Given the description of an element on the screen output the (x, y) to click on. 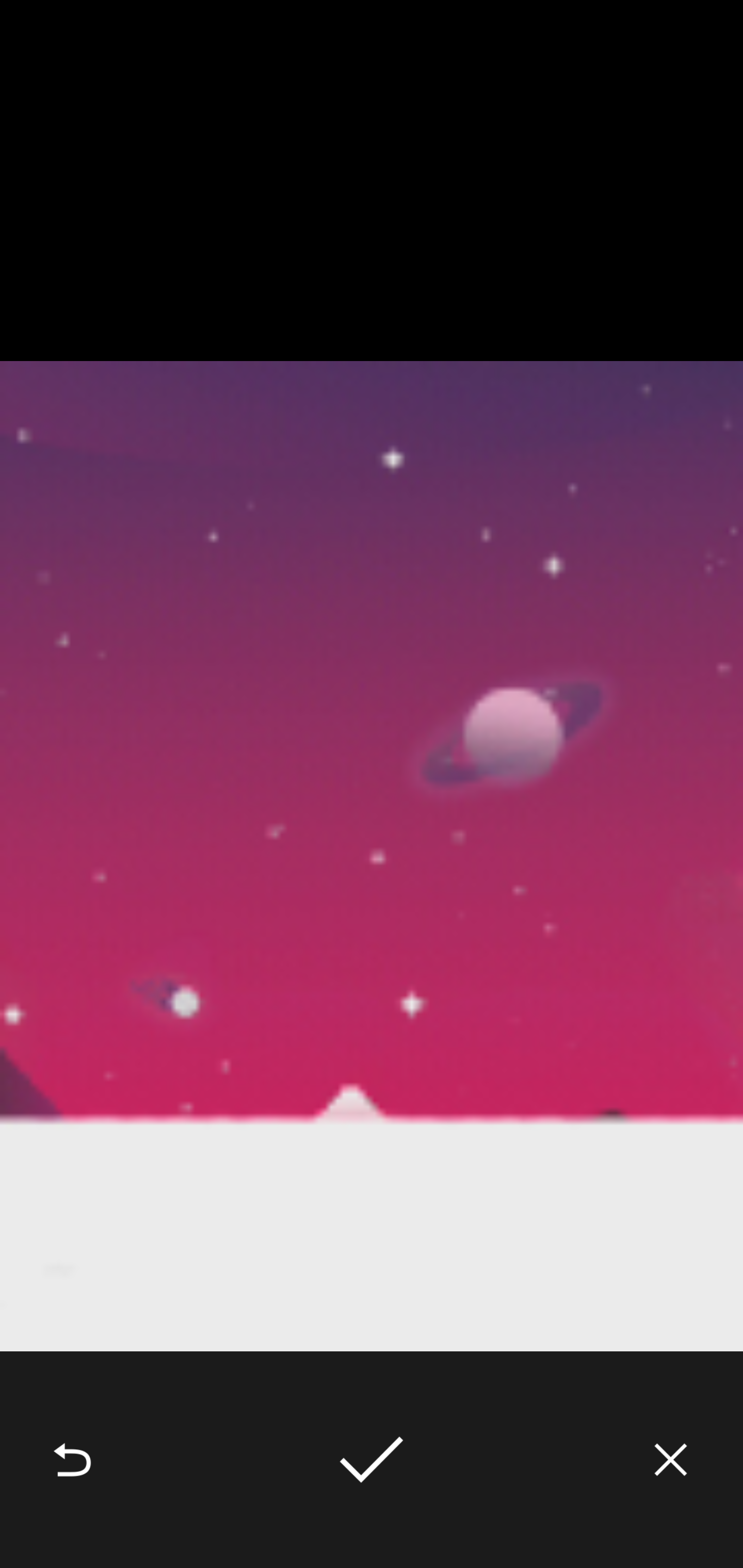
Done (371, 1459)
Retake (72, 1459)
Cancel (670, 1459)
